Given the description of an element on the screen output the (x, y) to click on. 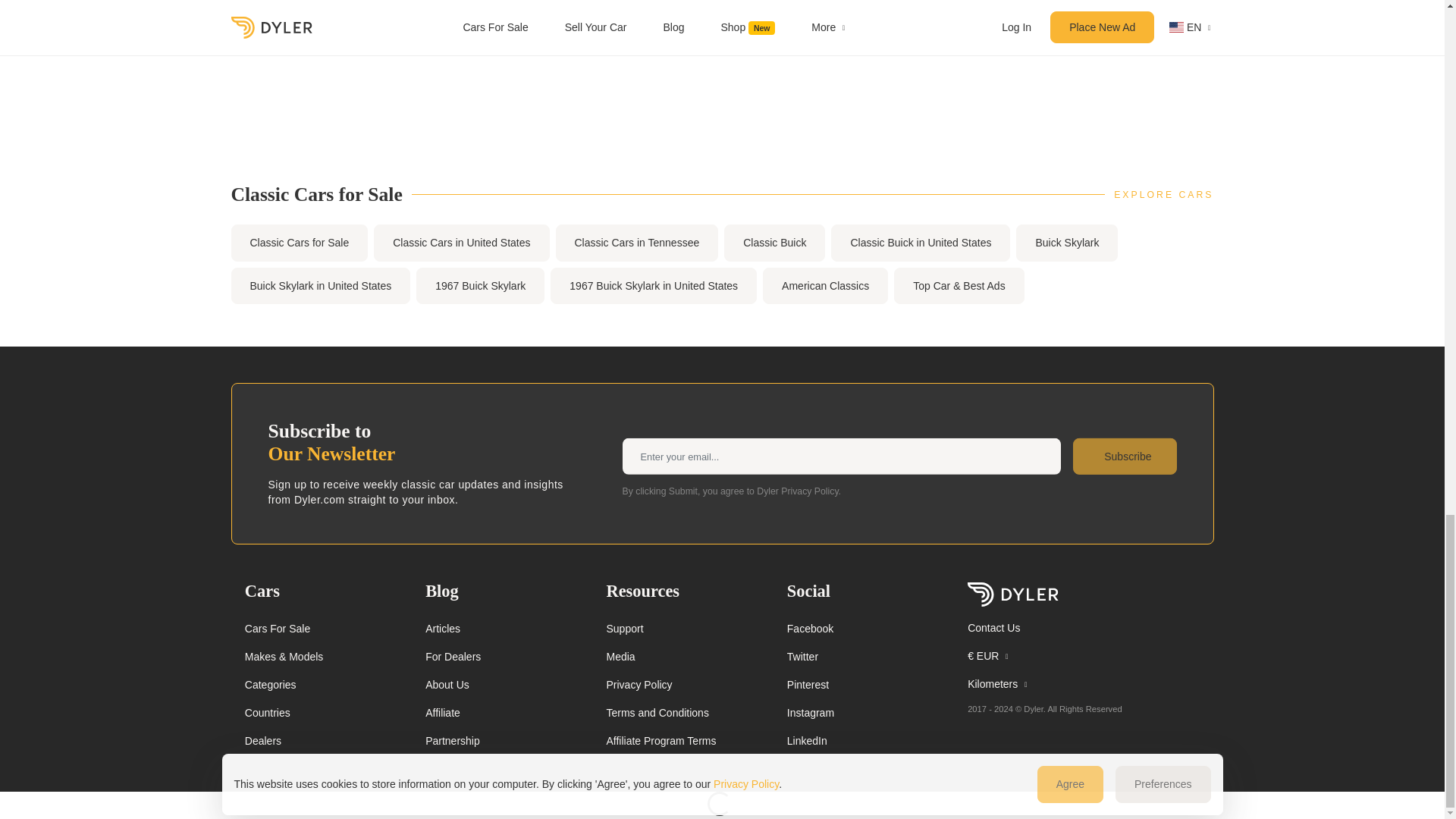
Classic Cars for Sale (299, 242)
Classic and Modern Cars for Sale in Tennessee (635, 242)
YouTube video player (476, 71)
Buick Skylark for Sale (1067, 242)
Classic and Modern Buick for Sale in United States (920, 242)
Classic and Modern Buick for Sale (774, 242)
Classic and Modern Cars for Sale in US (461, 242)
Buick Skylark for Sale in United States (320, 285)
1967 Buick Skylark for Sale (480, 285)
1967 Buick Skylark for Sale in US (653, 285)
